Given the description of an element on the screen output the (x, y) to click on. 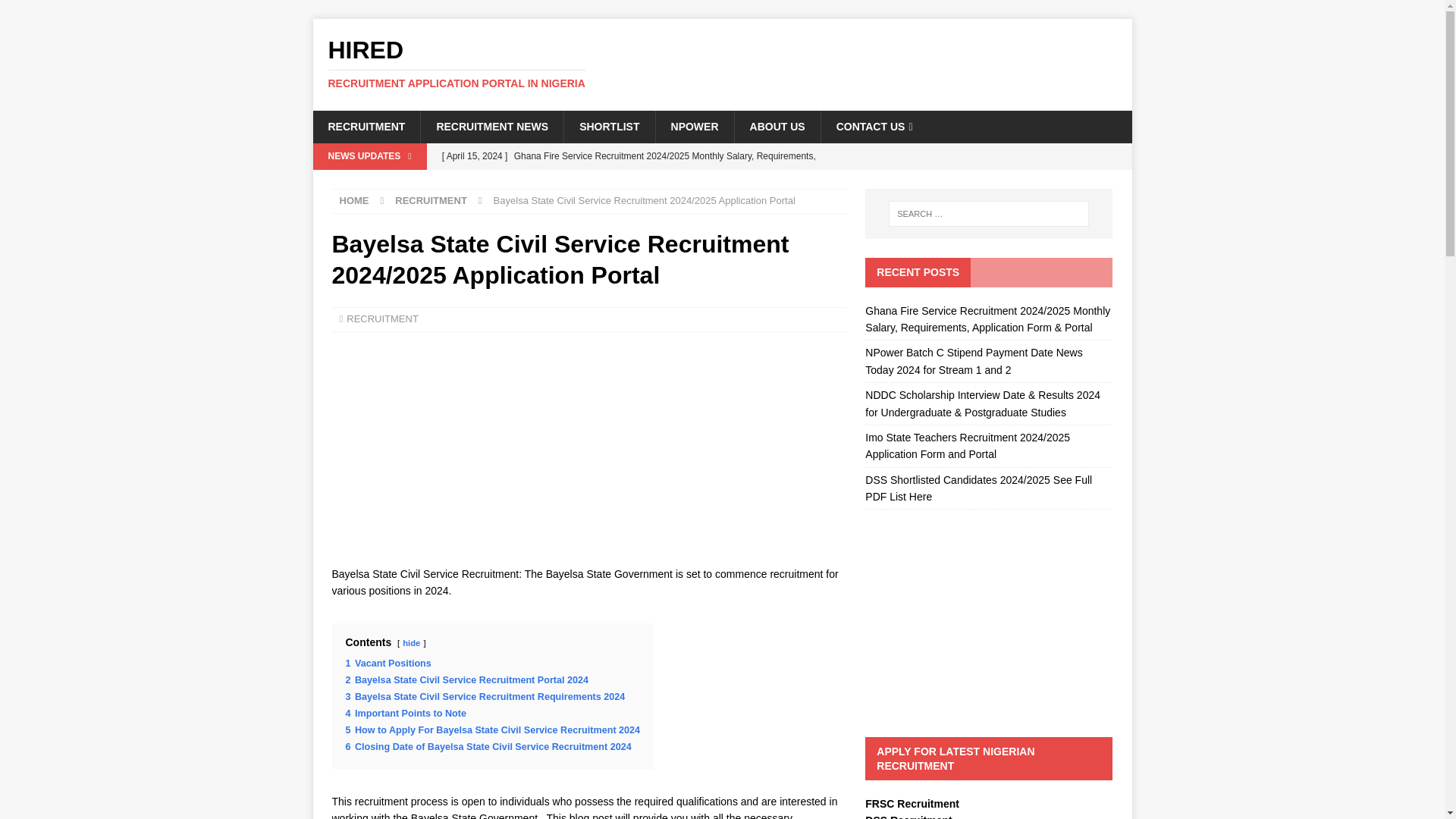
Search (56, 11)
RECRUITMENT (382, 318)
HIRED (721, 63)
HOME (354, 200)
SHORTLIST (608, 126)
hide (411, 642)
RECRUITMENT (366, 126)
NPOWER (694, 126)
ABOUT US (777, 126)
